Given the description of an element on the screen output the (x, y) to click on. 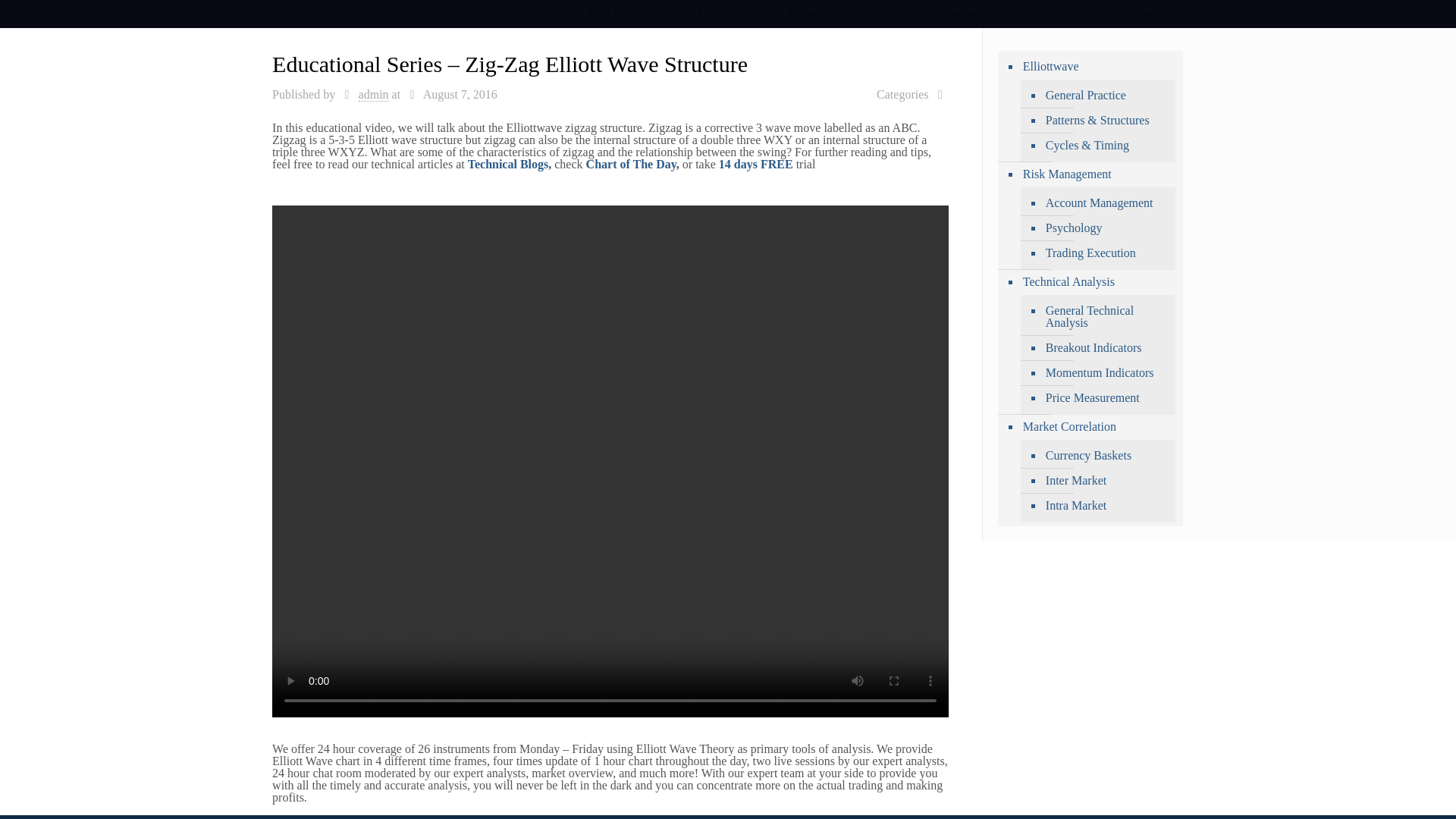
Free Education (625, 13)
Chart of The Day (631, 164)
14 days FREE (756, 164)
admin (373, 94)
Technical Blogs (507, 164)
Elliottwave (725, 13)
Home (538, 13)
